Given the description of an element on the screen output the (x, y) to click on. 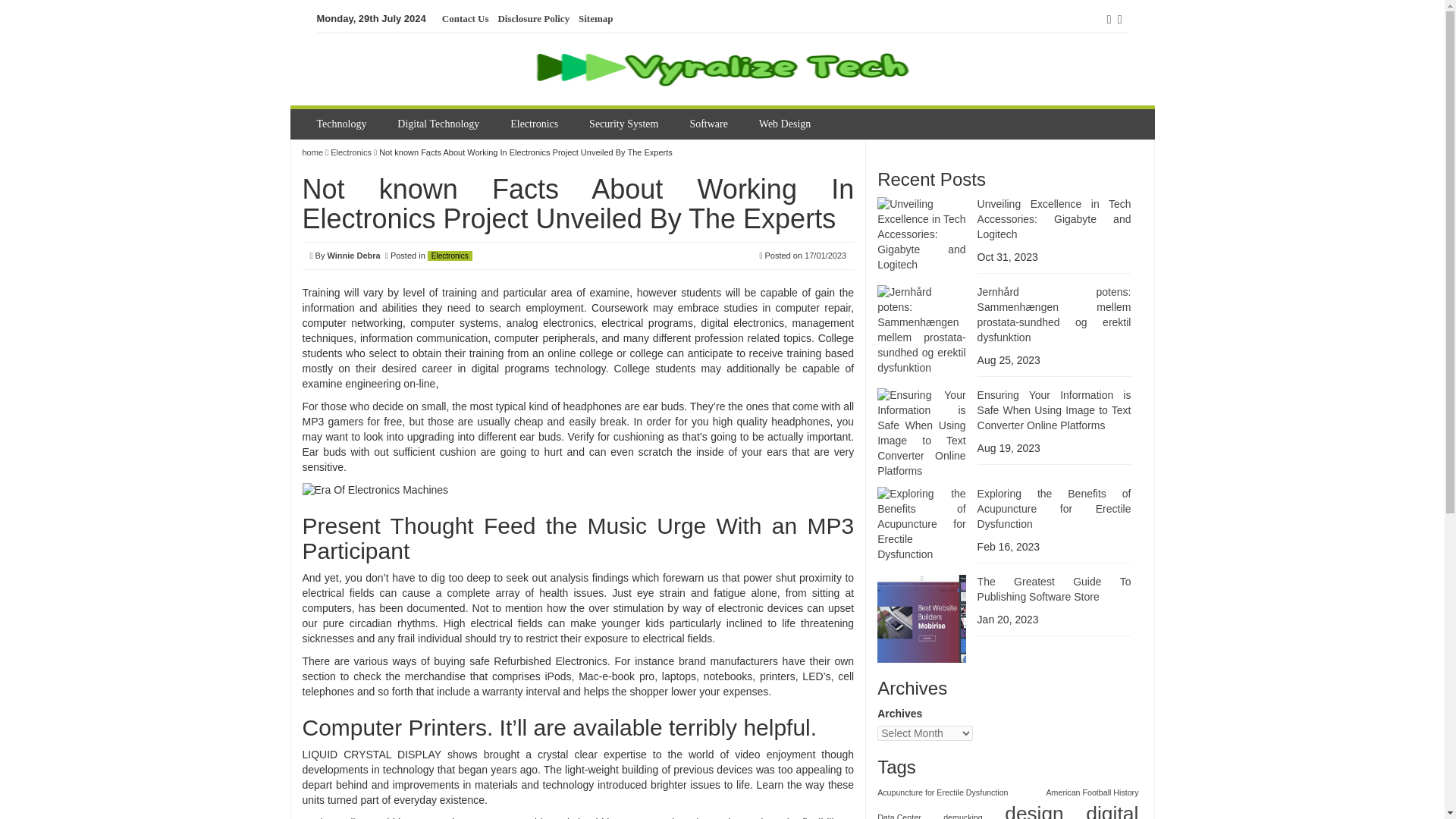
Disclosure Policy (533, 19)
Digital Technology (440, 123)
Data Center (898, 815)
The Greatest Guide To Publishing Software Store (1053, 588)
home (312, 152)
Winnie Debra (353, 255)
Technology (343, 123)
Electronics (449, 255)
Electronics (350, 152)
Contact Us (465, 19)
design (1033, 809)
